Given the description of an element on the screen output the (x, y) to click on. 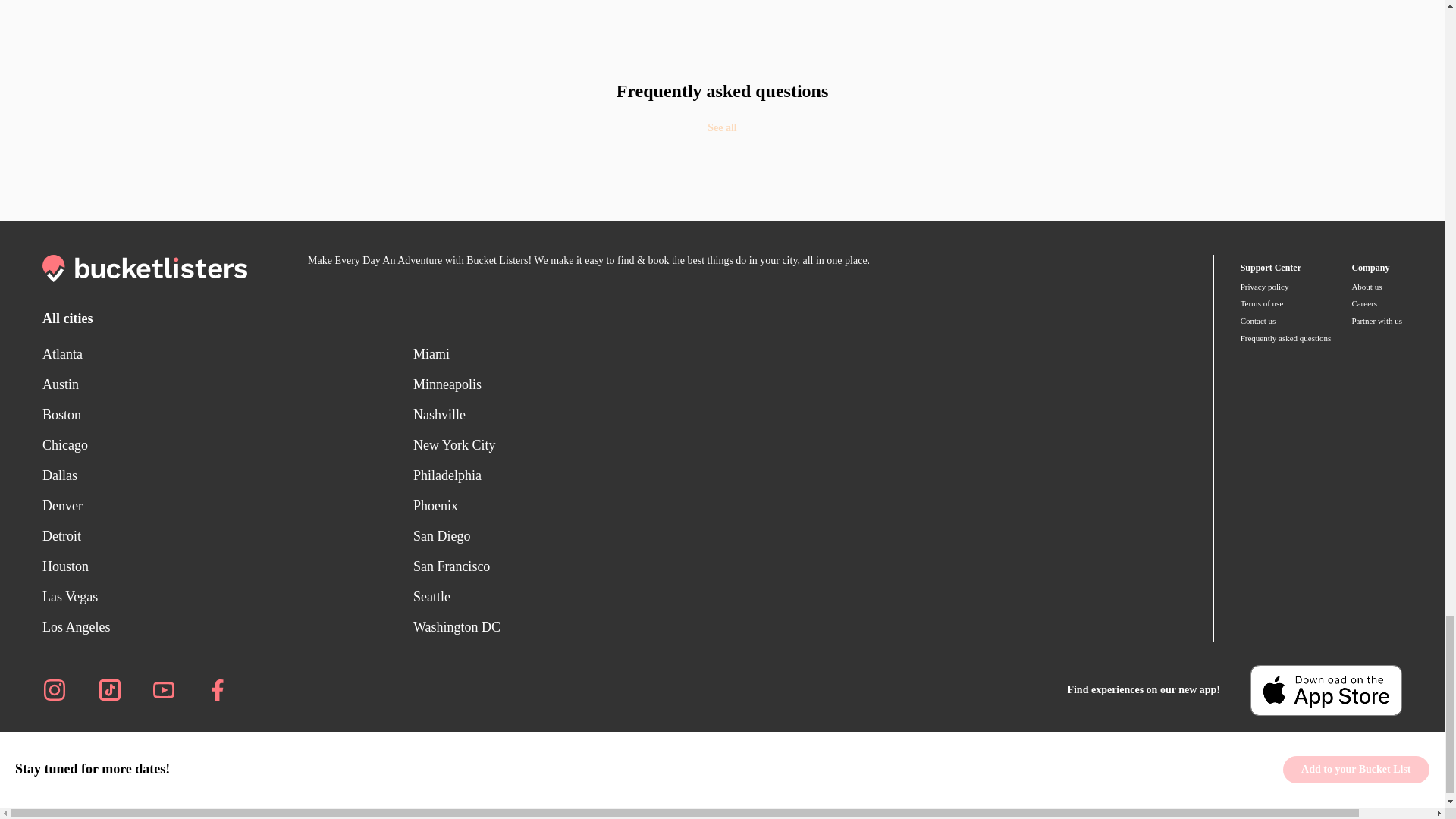
Detroit (227, 535)
Miami (608, 354)
Austin (227, 384)
Las Vegas (227, 596)
Dallas (227, 475)
Denver (227, 505)
Houston (227, 566)
Washington DC (608, 626)
Boston (227, 414)
Philadelphia (608, 475)
